Given the description of an element on the screen output the (x, y) to click on. 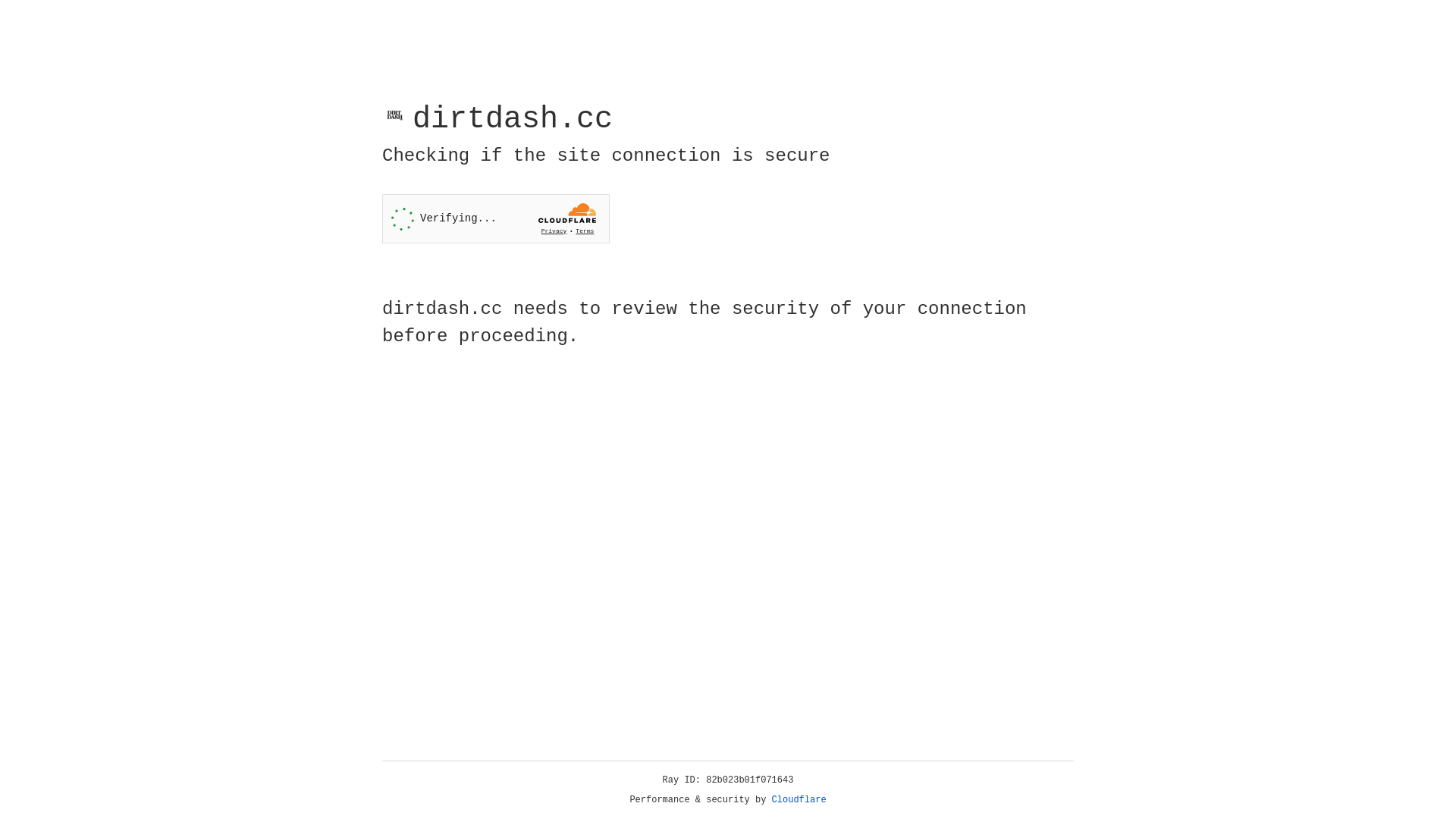
Widget containing a Cloudflare security challenge Element type: hover (495, 218)
Cloudflare Element type: text (798, 799)
